Given the description of an element on the screen output the (x, y) to click on. 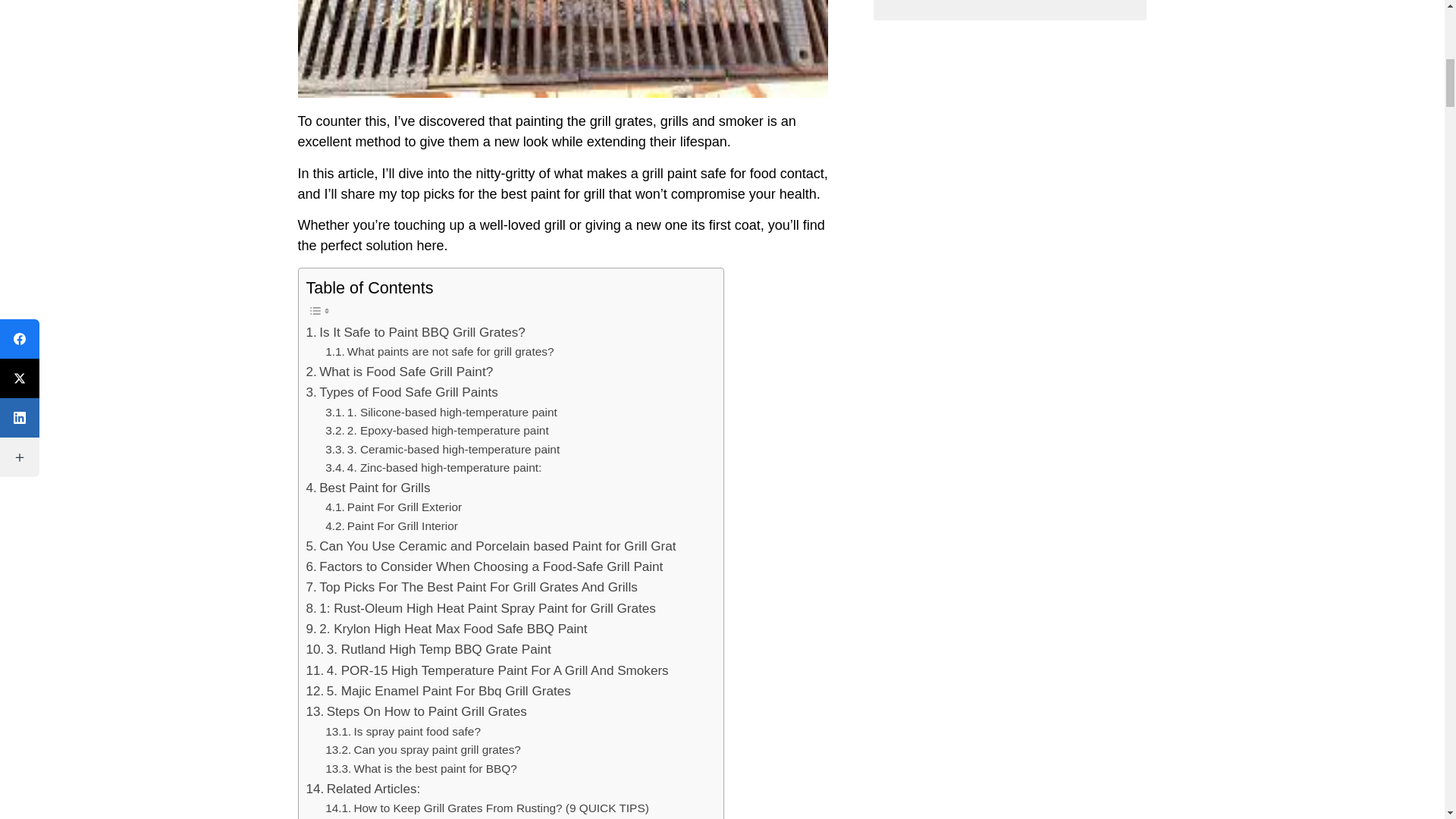
What paints are not safe for grill grates? (438, 352)
Factors to Consider When Choosing a Food-Safe Grill Paint (484, 566)
1. Silicone-based high-temperature paint (440, 412)
Can You Use Ceramic and Porcelain based Paint for Grill Grat (491, 546)
Paint For Grill Exterior (392, 506)
Is It Safe to Paint BBQ Grill Grates? (415, 332)
3. Ceramic-based high-temperature paint (441, 449)
Top Picks For The Best Paint For Grill Grates And Grills (471, 587)
Paint For Grill Exterior (392, 506)
1. Silicone-based high-temperature paint (440, 412)
Factors to Consider When Choosing a Food-Safe Grill Paint (484, 566)
2. Epoxy-based high-temperature paint (436, 430)
2. Krylon High Heat Max Food Safe BBQ Paint (446, 629)
1: Rust-Oleum High Heat Paint Spray Paint for Grill Grates (480, 608)
4. Zinc-based high-temperature paint: (432, 467)
